Given the description of an element on the screen output the (x, y) to click on. 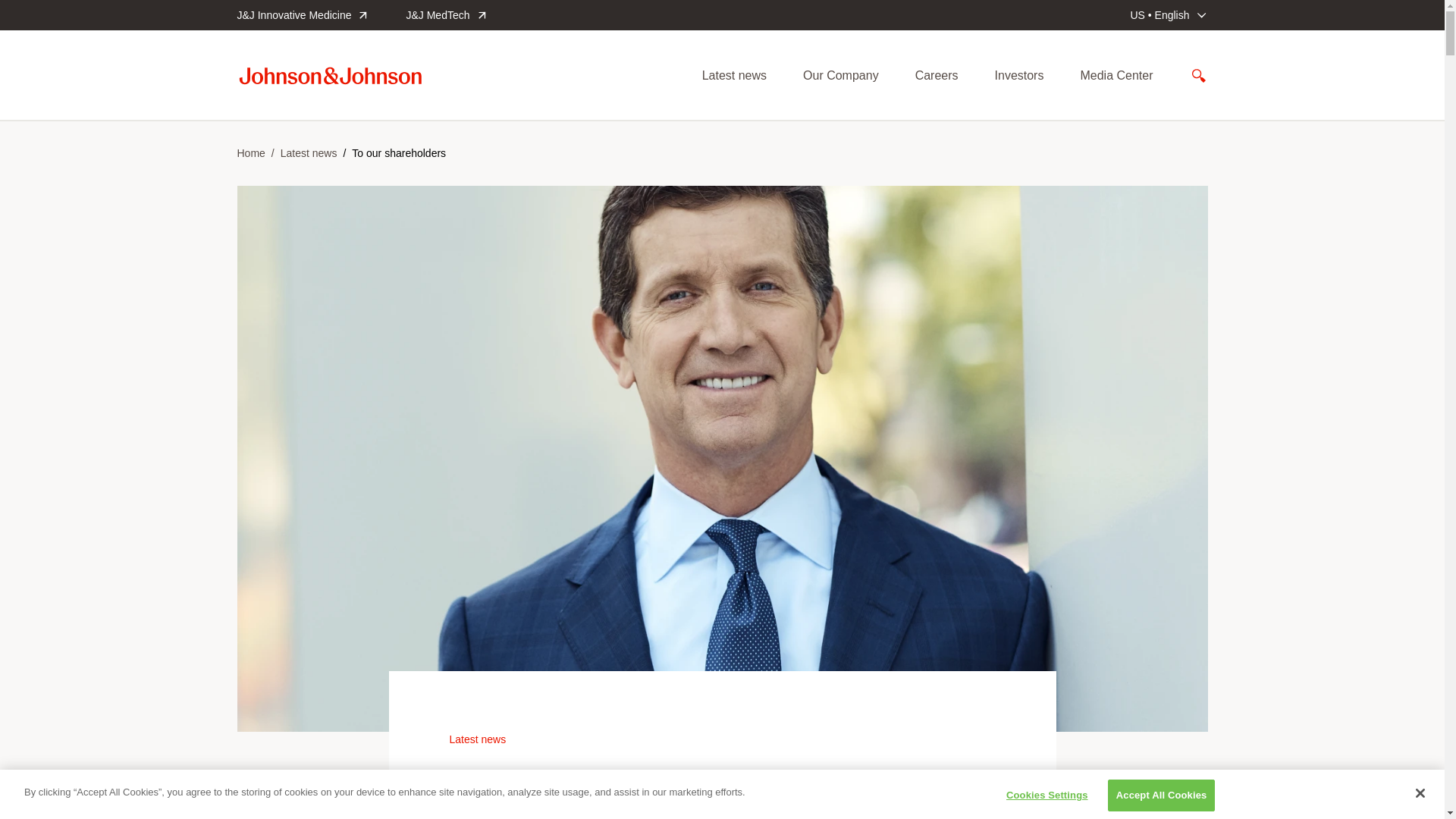
Latest news (734, 75)
Our Company (841, 75)
